Given the description of an element on the screen output the (x, y) to click on. 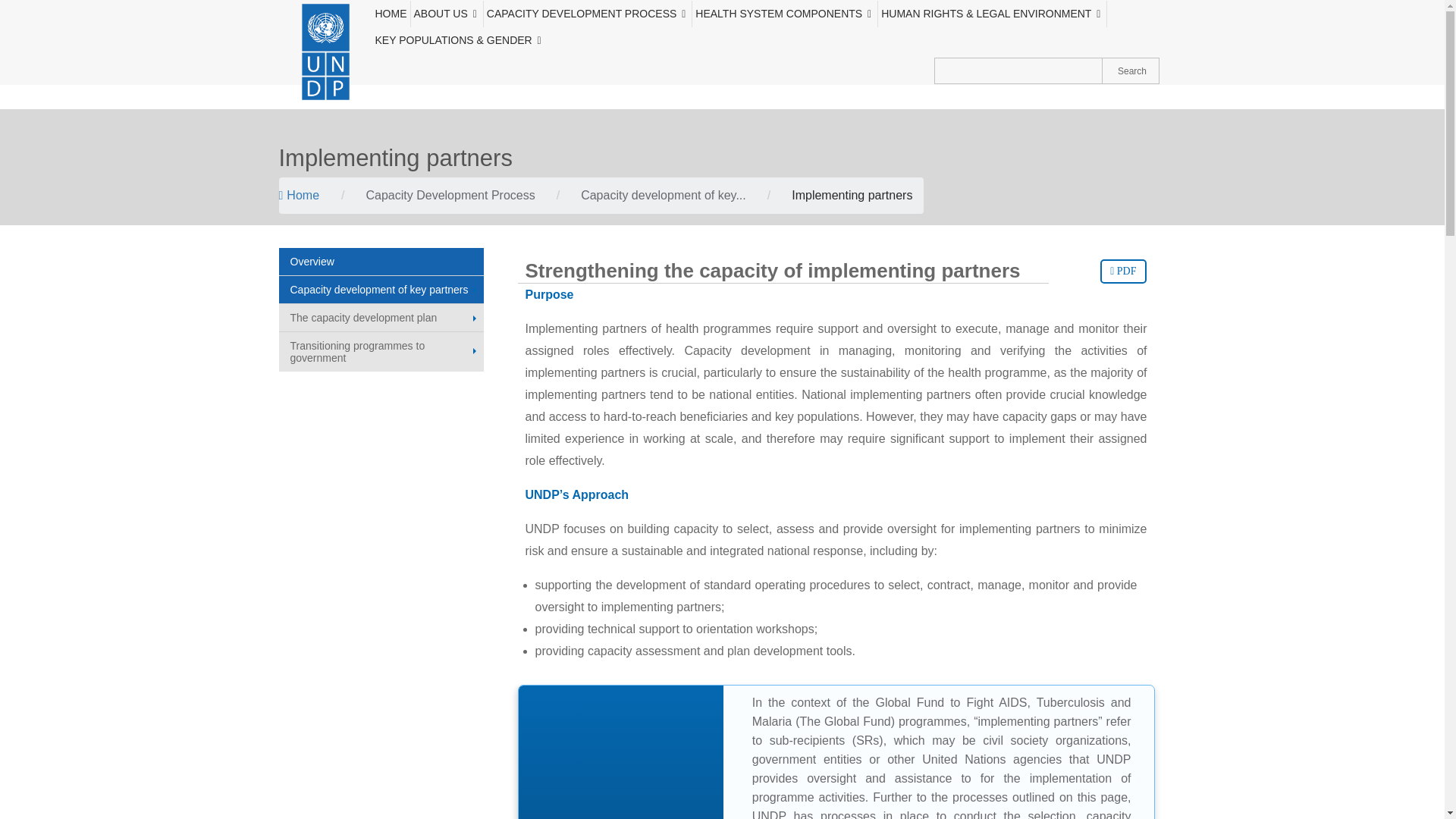
Search (1130, 70)
CAPACITY DEVELOPMENT PROCESS (588, 13)
ABOUT US (446, 13)
Capacity development of key partners (662, 195)
Capacity Development Process (449, 195)
HOME (390, 13)
HEALTH SYSTEM COMPONENTS (785, 13)
Implementing partners (852, 195)
